Given the description of an element on the screen output the (x, y) to click on. 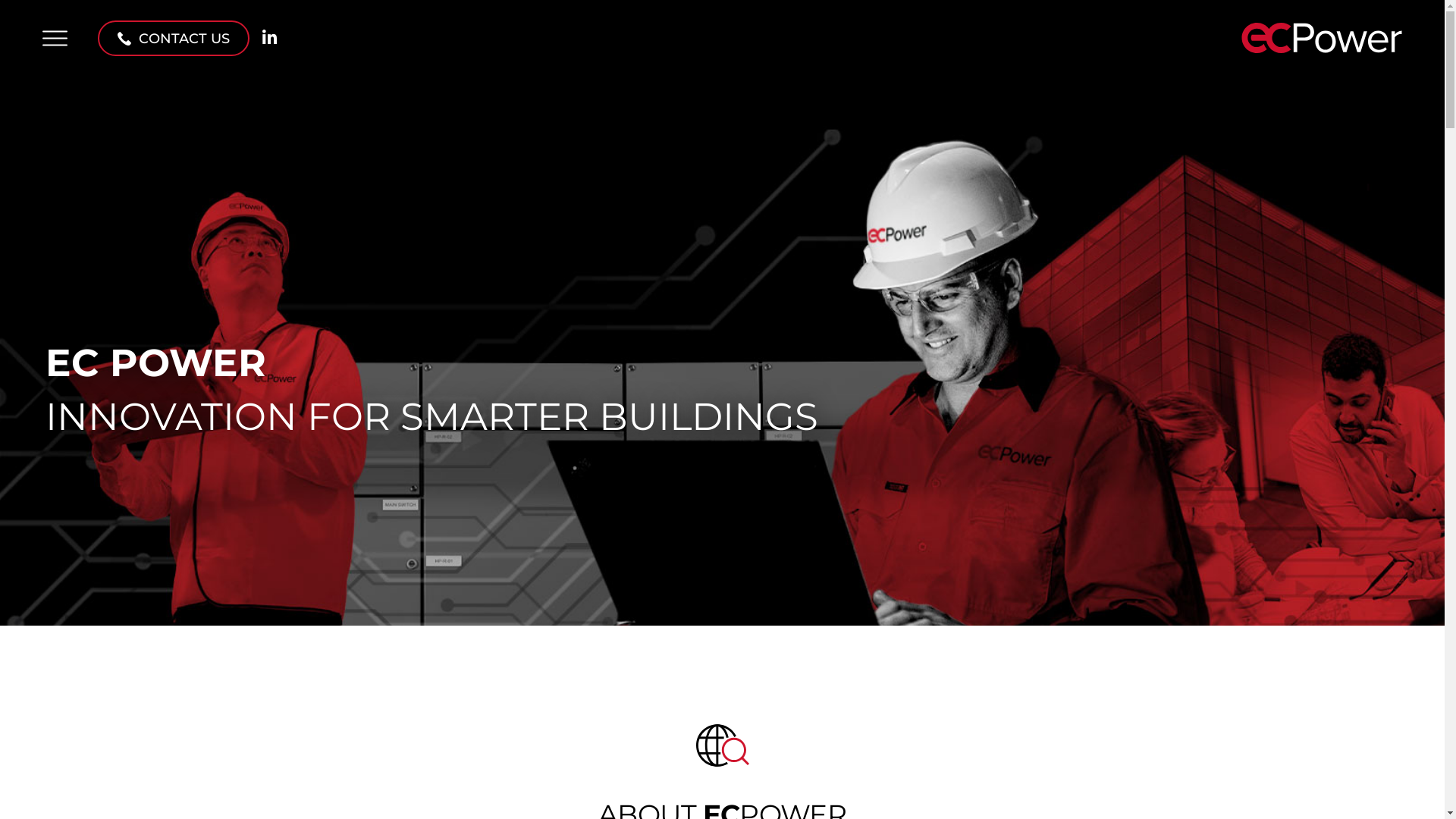
CONTACT US Element type: text (173, 37)
